Given the description of an element on the screen output the (x, y) to click on. 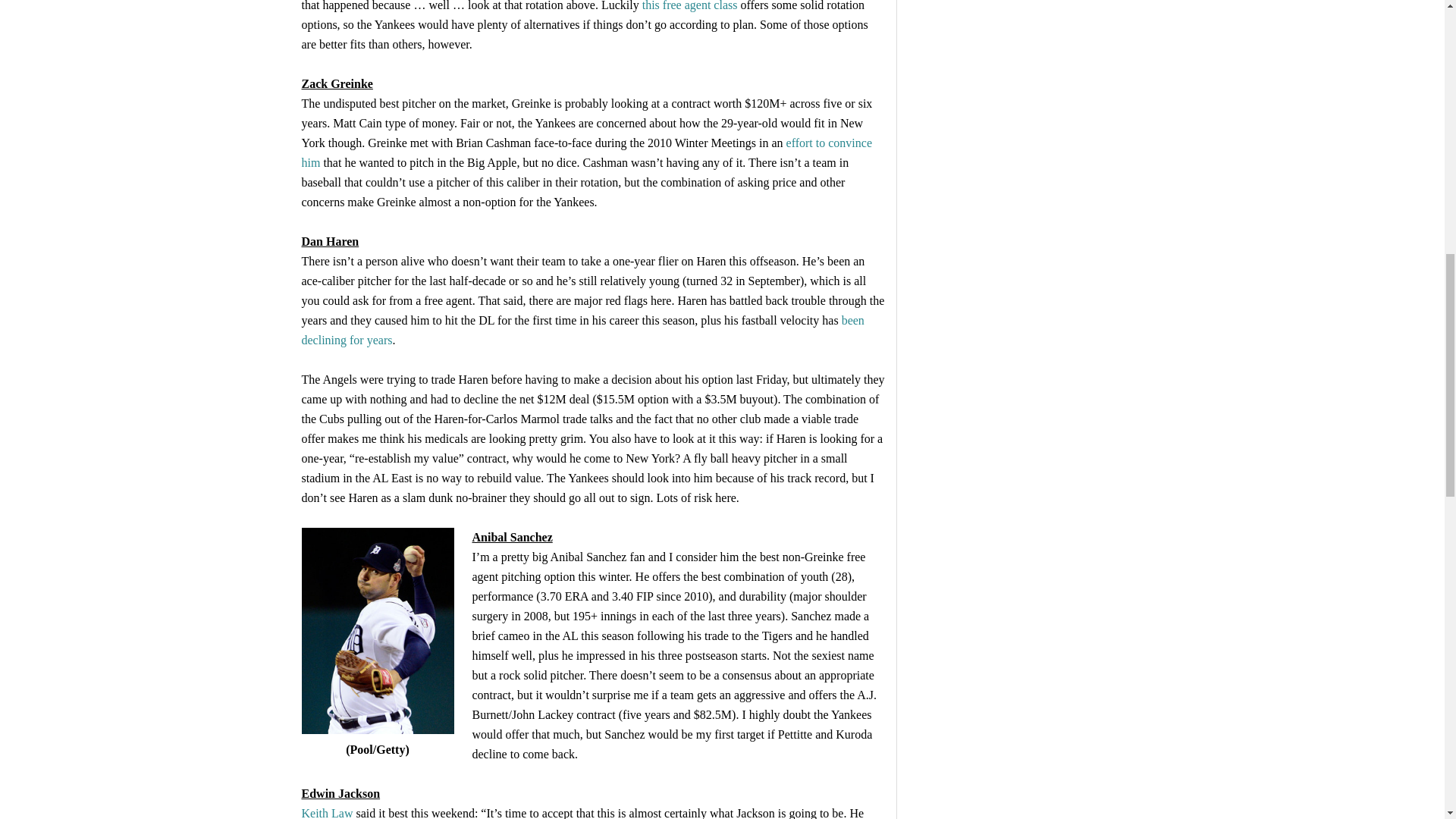
effort to convince him (586, 152)
been declining for years (582, 329)
this free agent class (690, 5)
Keith Law (327, 812)
